Given the description of an element on the screen output the (x, y) to click on. 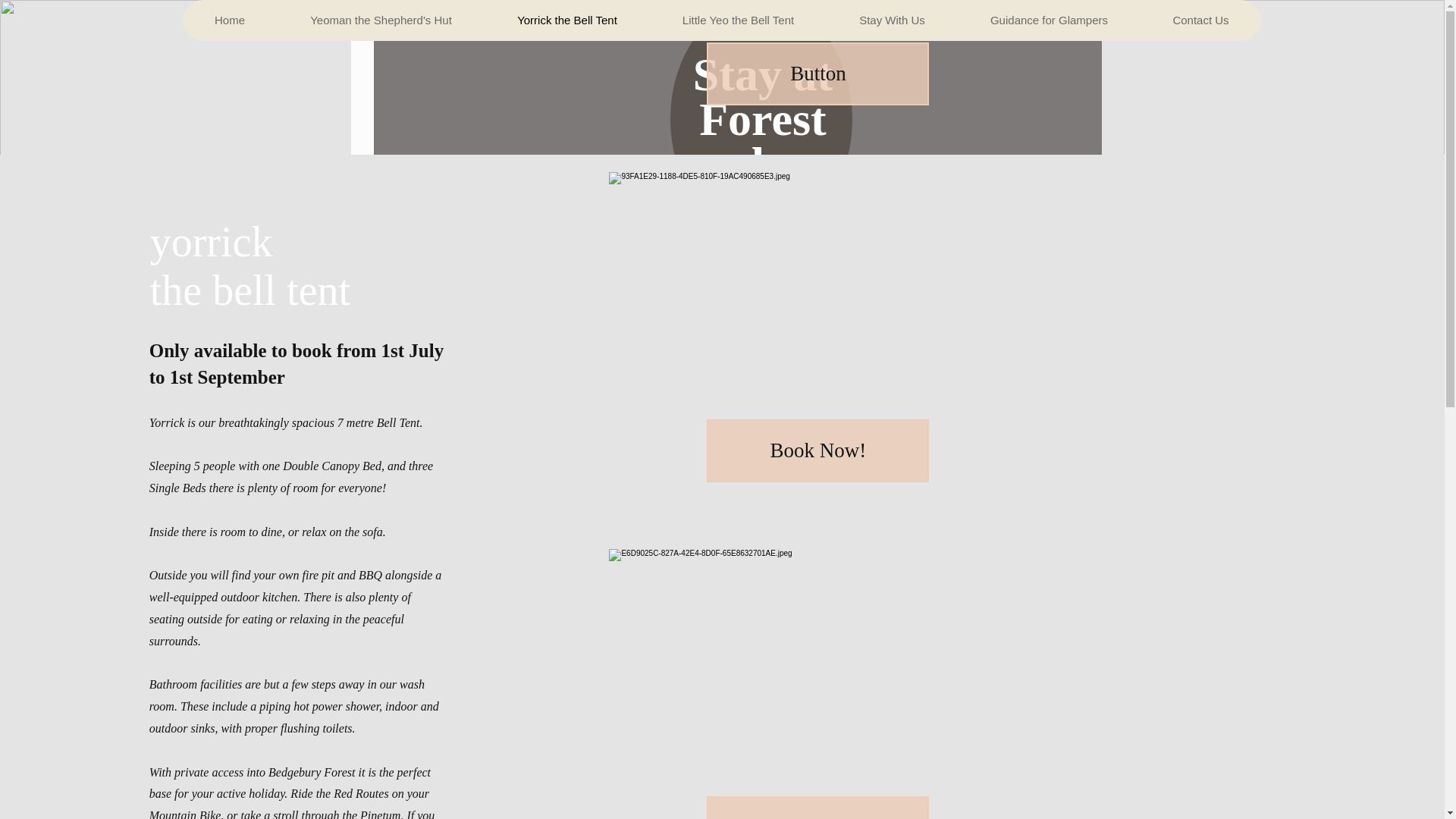
Home (229, 20)
Little Yeo the Bell Tent (737, 20)
BOOK NOW (1039, 27)
Yorrick the Bell Tent (566, 20)
Contact Us (1200, 20)
Stay With Us (892, 20)
Book Now! (817, 450)
Yeoman the Shepherd's Hut (381, 20)
Guidance for Glampers (1048, 20)
